Given the description of an element on the screen output the (x, y) to click on. 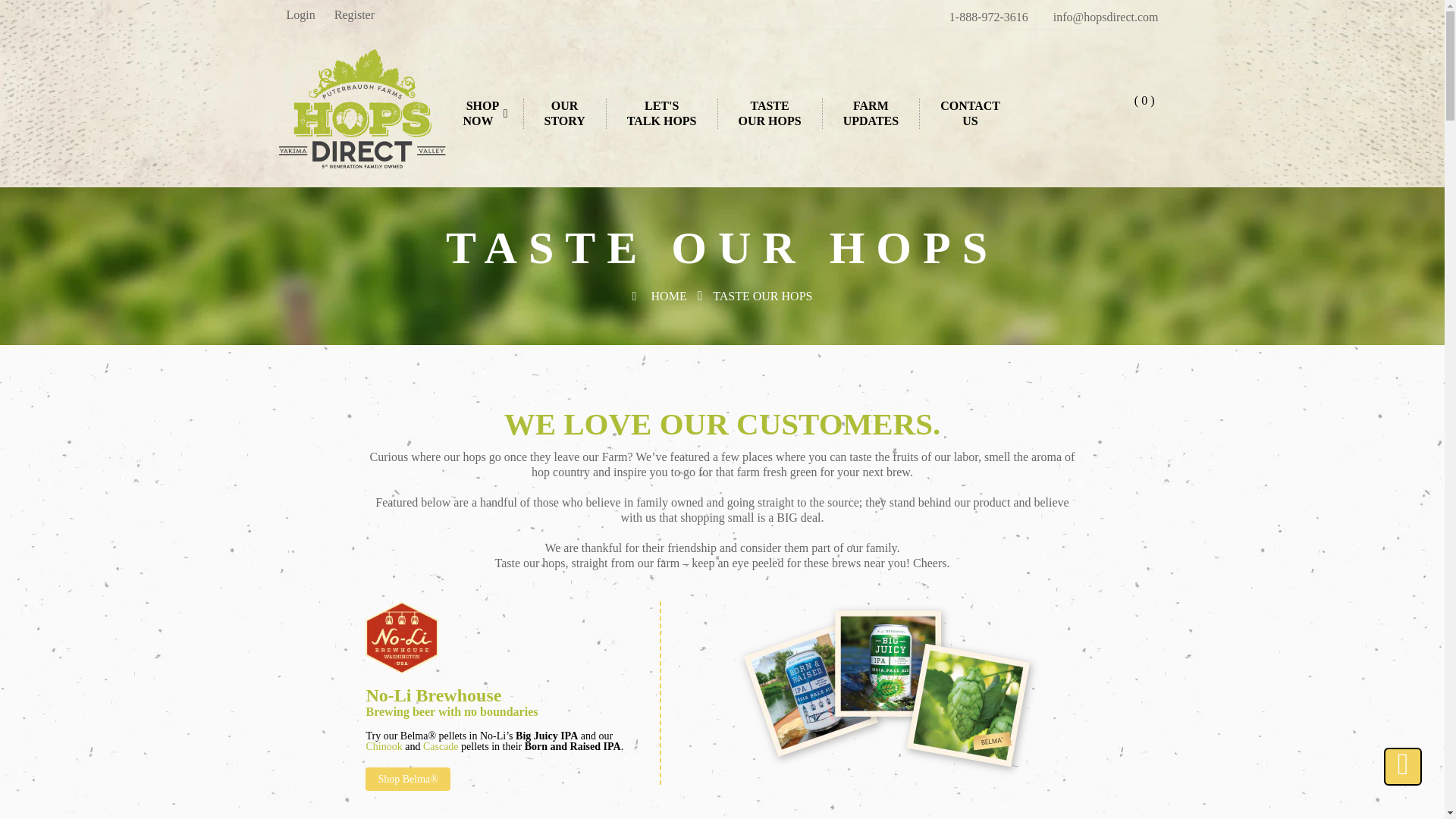
Register (971, 113)
Register (872, 113)
Log in (354, 14)
1-888-972-3616 (354, 14)
Cascade (301, 14)
Login (988, 16)
HOME (440, 746)
Chinook (771, 113)
